Given the description of an element on the screen output the (x, y) to click on. 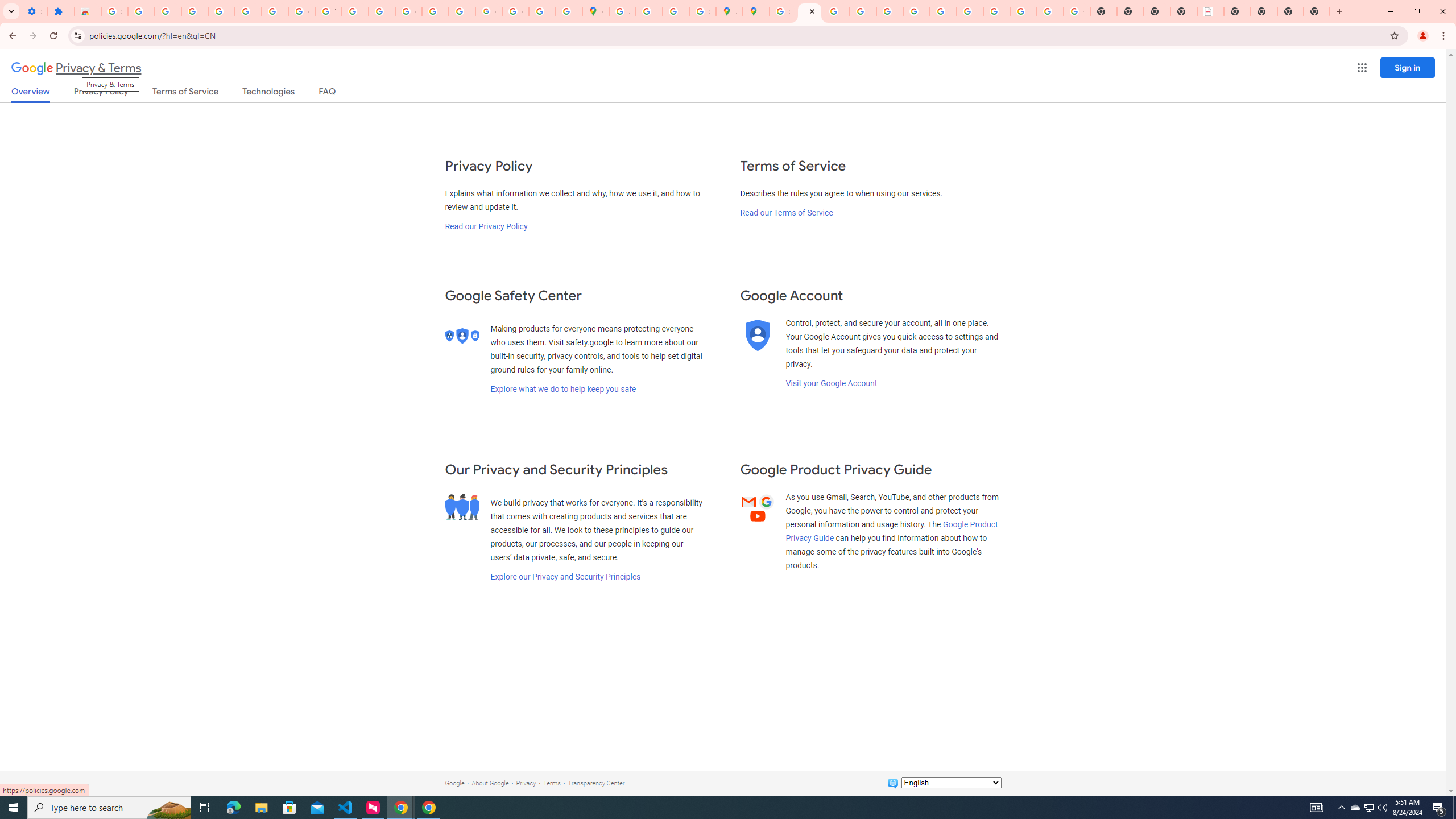
Settings - On startup (34, 11)
Change language: (951, 782)
New Tab (1316, 11)
Sign in - Google Accounts (114, 11)
Delete photos & videos - Computer - Google Photos Help (167, 11)
